Given the description of an element on the screen output the (x, y) to click on. 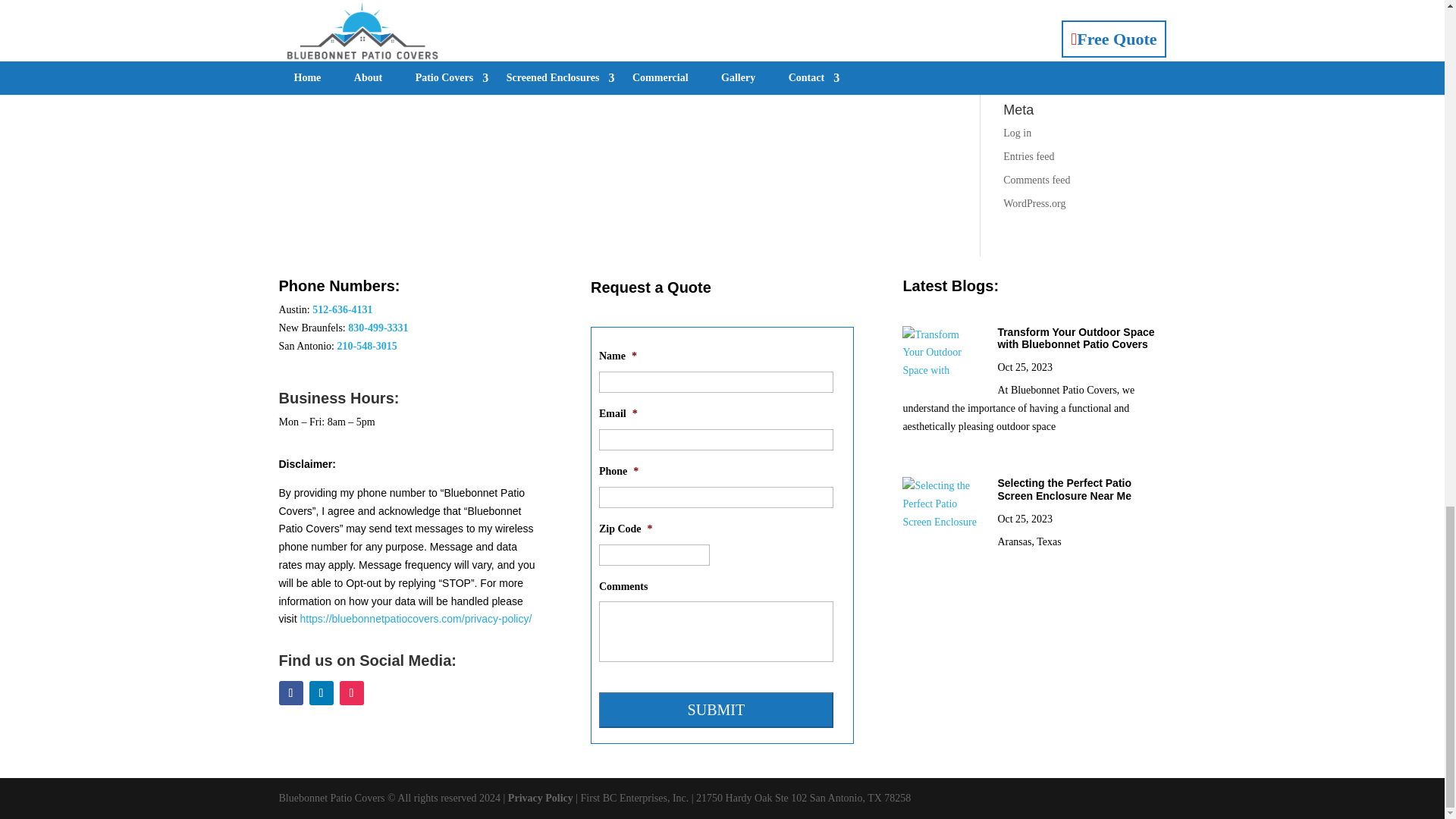
Follow on LinkedIn (320, 692)
Submit (715, 710)
Follow on Facebook (290, 692)
Privacy Policy (540, 797)
Follow on Instagram (351, 692)
